Given the description of an element on the screen output the (x, y) to click on. 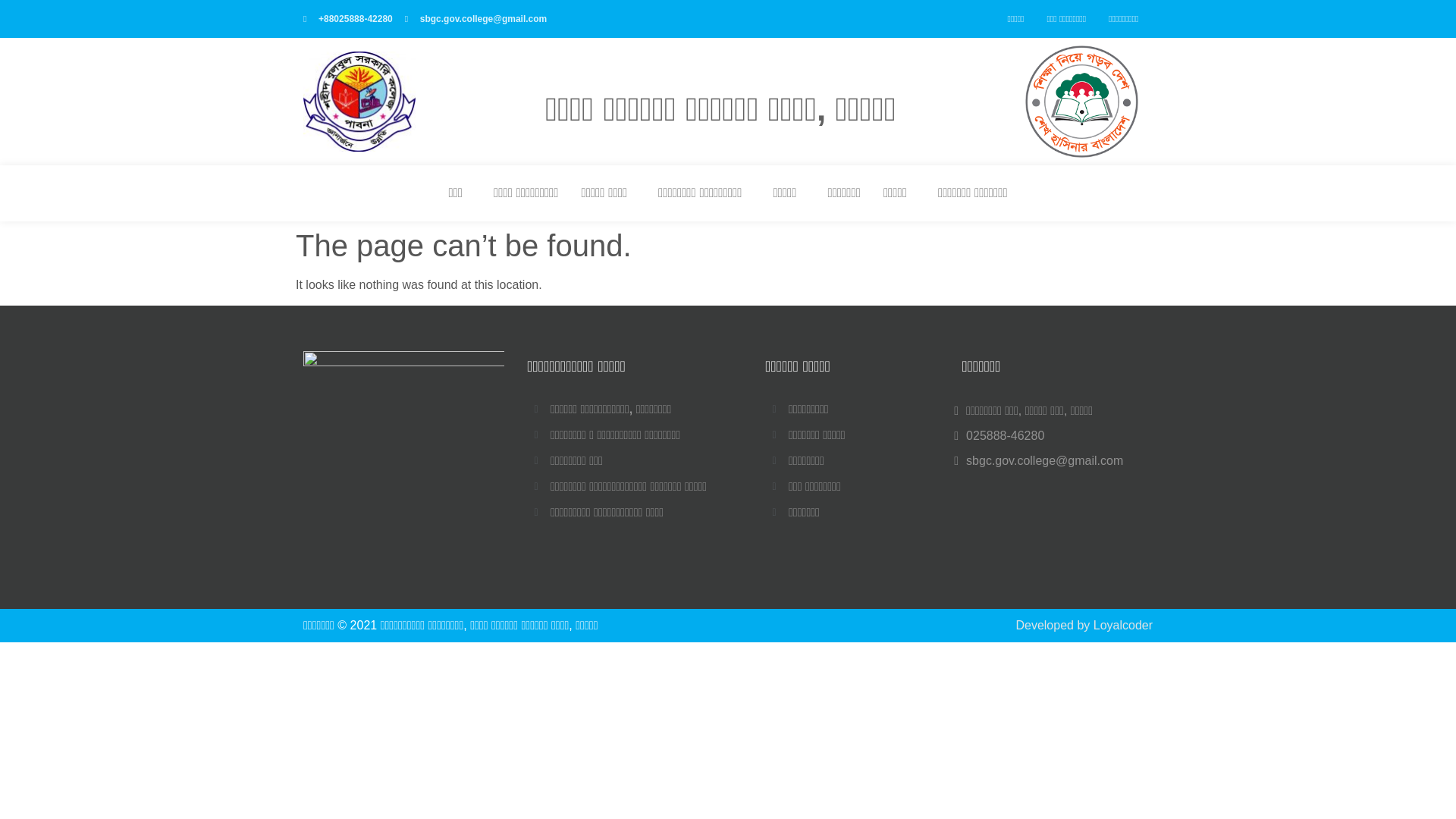
logo (358, 100)
